Given the description of an element on the screen output the (x, y) to click on. 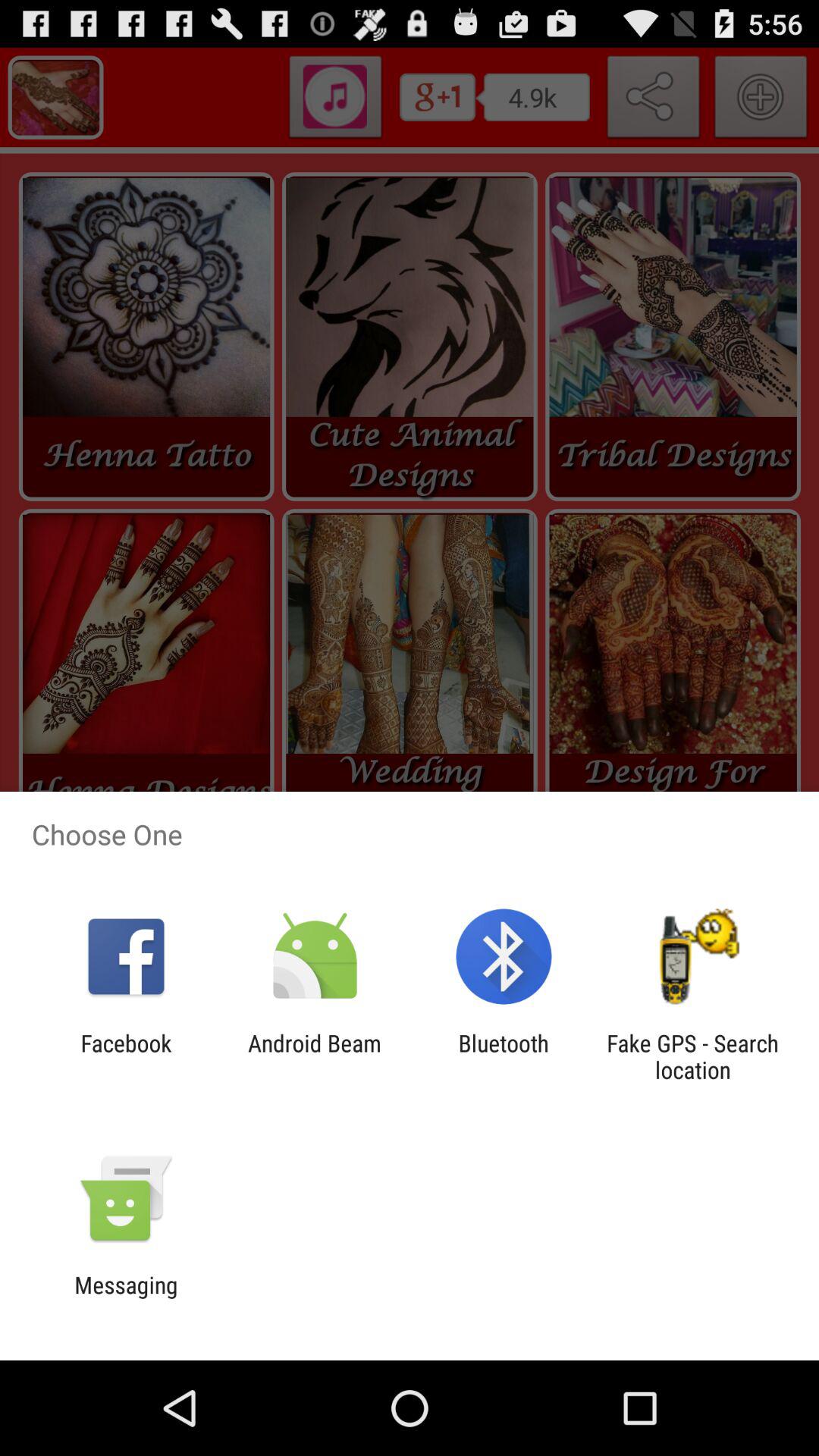
launch the fake gps search (692, 1056)
